Given the description of an element on the screen output the (x, y) to click on. 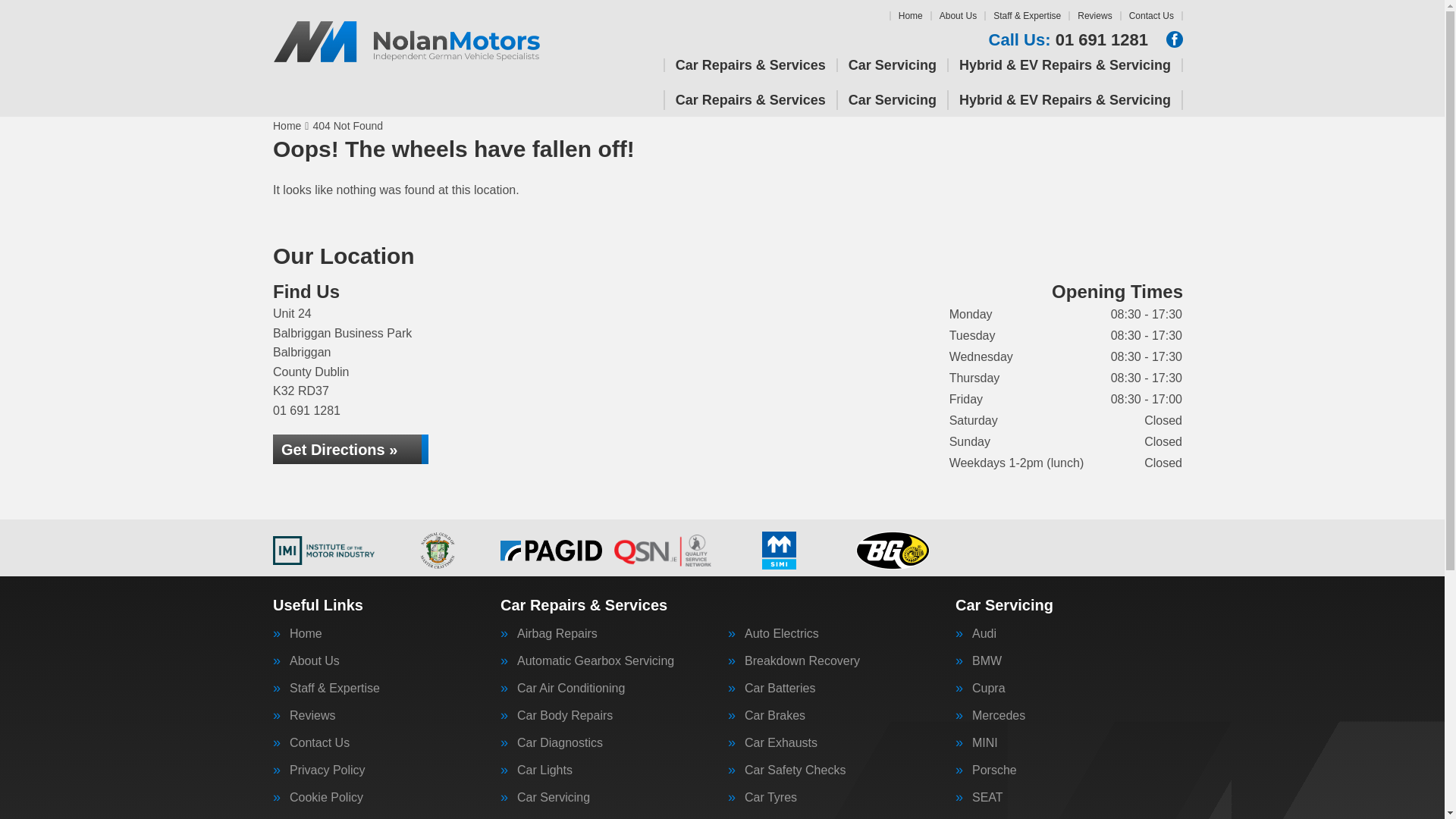
Reviews (1094, 15)
Contact Us (1151, 15)
Call Us: 01 691 1281 (1068, 39)
About Us (957, 15)
Home (910, 15)
